Given the description of an element on the screen output the (x, y) to click on. 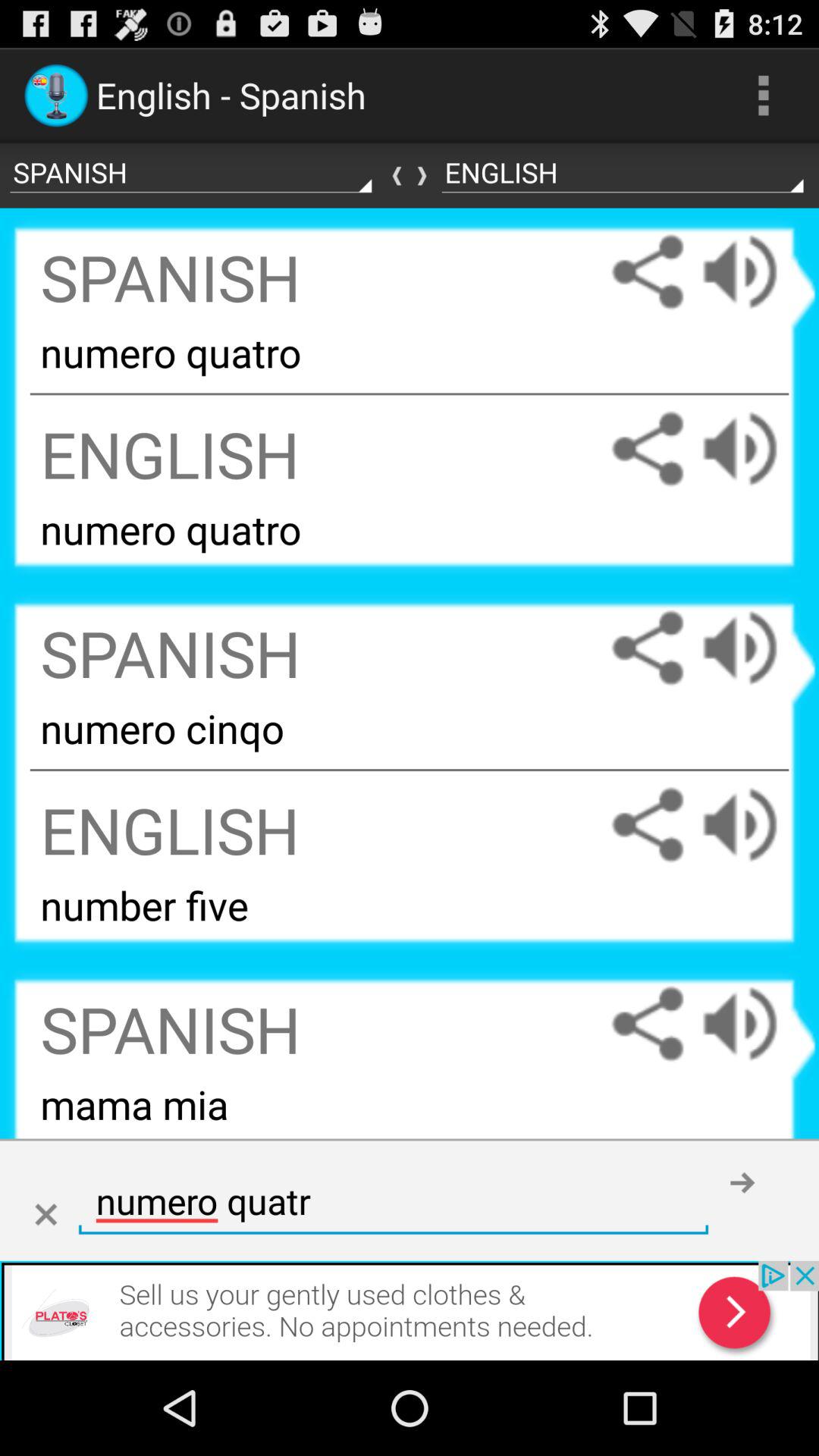
sound (754, 448)
